Given the description of an element on the screen output the (x, y) to click on. 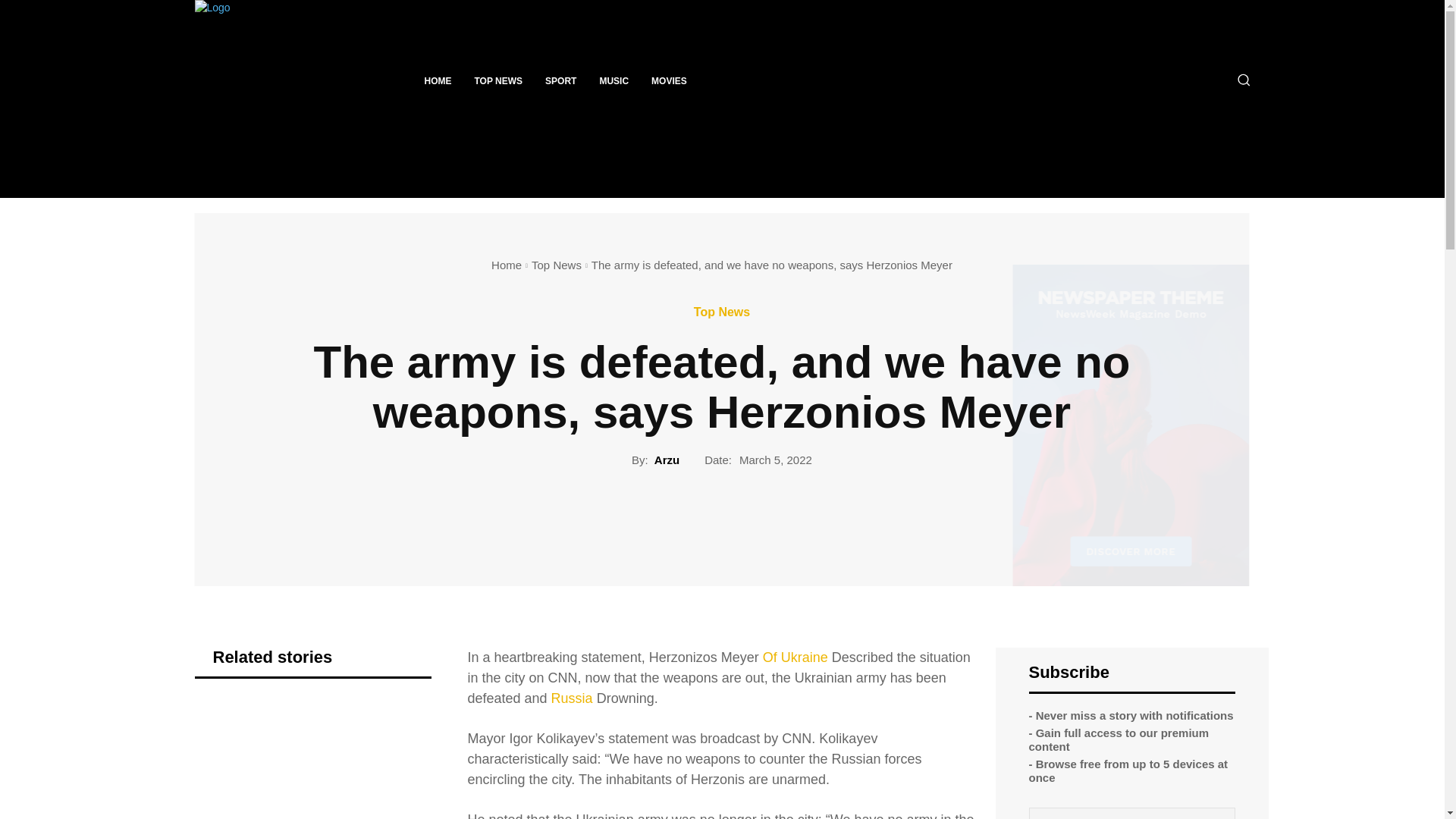
TOP NEWS (498, 80)
MUSIC (614, 80)
Top News (555, 264)
Home (506, 264)
Top News (721, 312)
MOVIES (669, 80)
Arzu (666, 459)
View all posts in Top News (555, 264)
SPORT (561, 80)
HOME (437, 80)
